Given the description of an element on the screen output the (x, y) to click on. 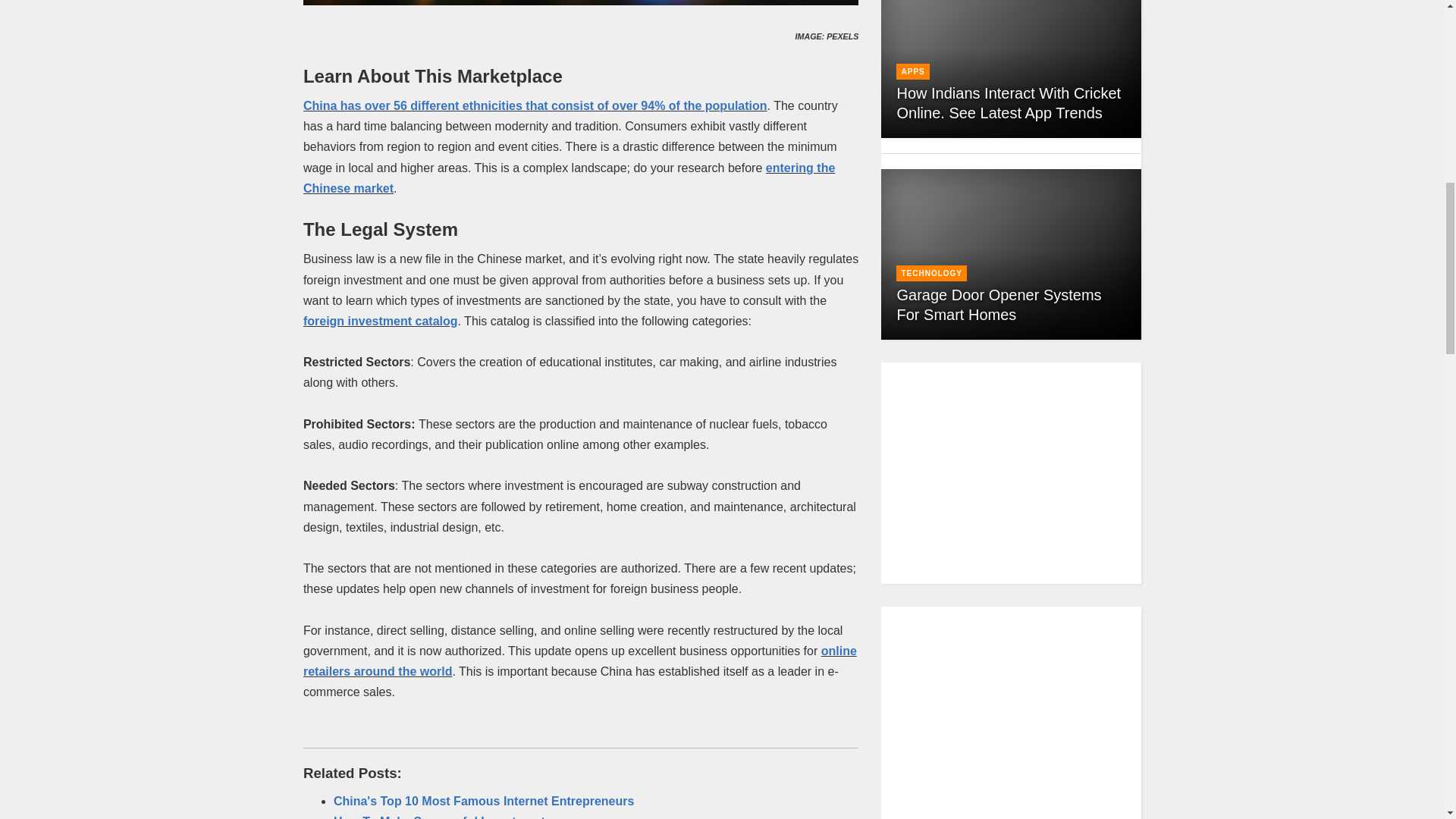
Garage Door Opener Systems For Smart Homes (998, 304)
online retailers around the world (579, 661)
foreign investment catalog (380, 320)
China's Top 10 Most Famous Internet Entrepreneurs (483, 800)
entering the Chinese market (568, 177)
How To Make Successful Investments (442, 816)
